Given the description of an element on the screen output the (x, y) to click on. 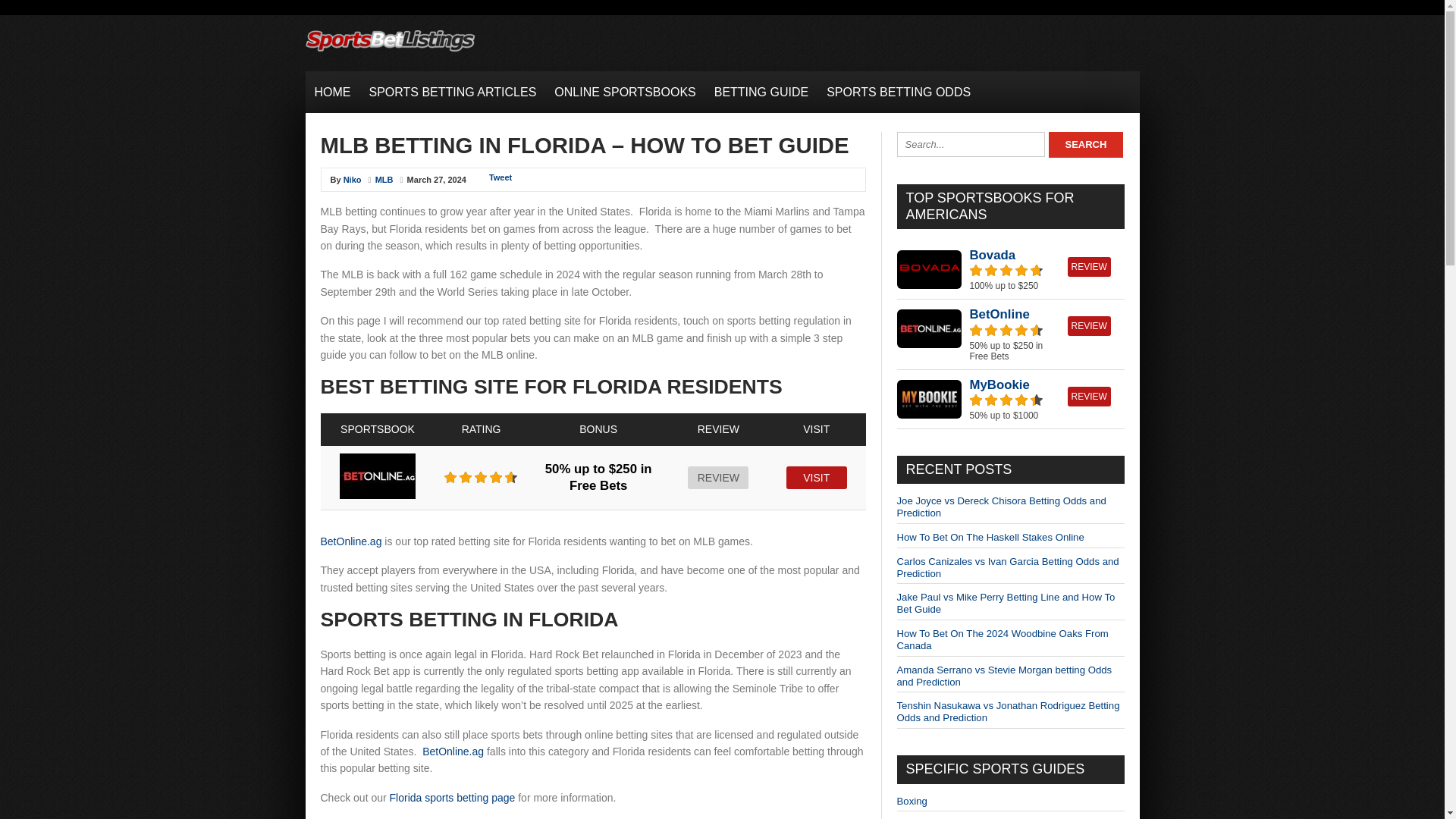
Niko (352, 179)
Search (1085, 144)
SPORTS BETTING ARTICLES (451, 92)
ONLINE SPORTSBOOKS (624, 92)
MLB (384, 179)
Bovada (991, 255)
BetOnline.ag (350, 541)
Florida sports betting page (452, 797)
BetOnline (999, 314)
SPORTS BETTING ODDS (897, 92)
REVIEW (1088, 325)
BETTING GUIDE (760, 92)
BetOnline.ag (452, 751)
VISIT (816, 477)
Search (1085, 144)
